Given the description of an element on the screen output the (x, y) to click on. 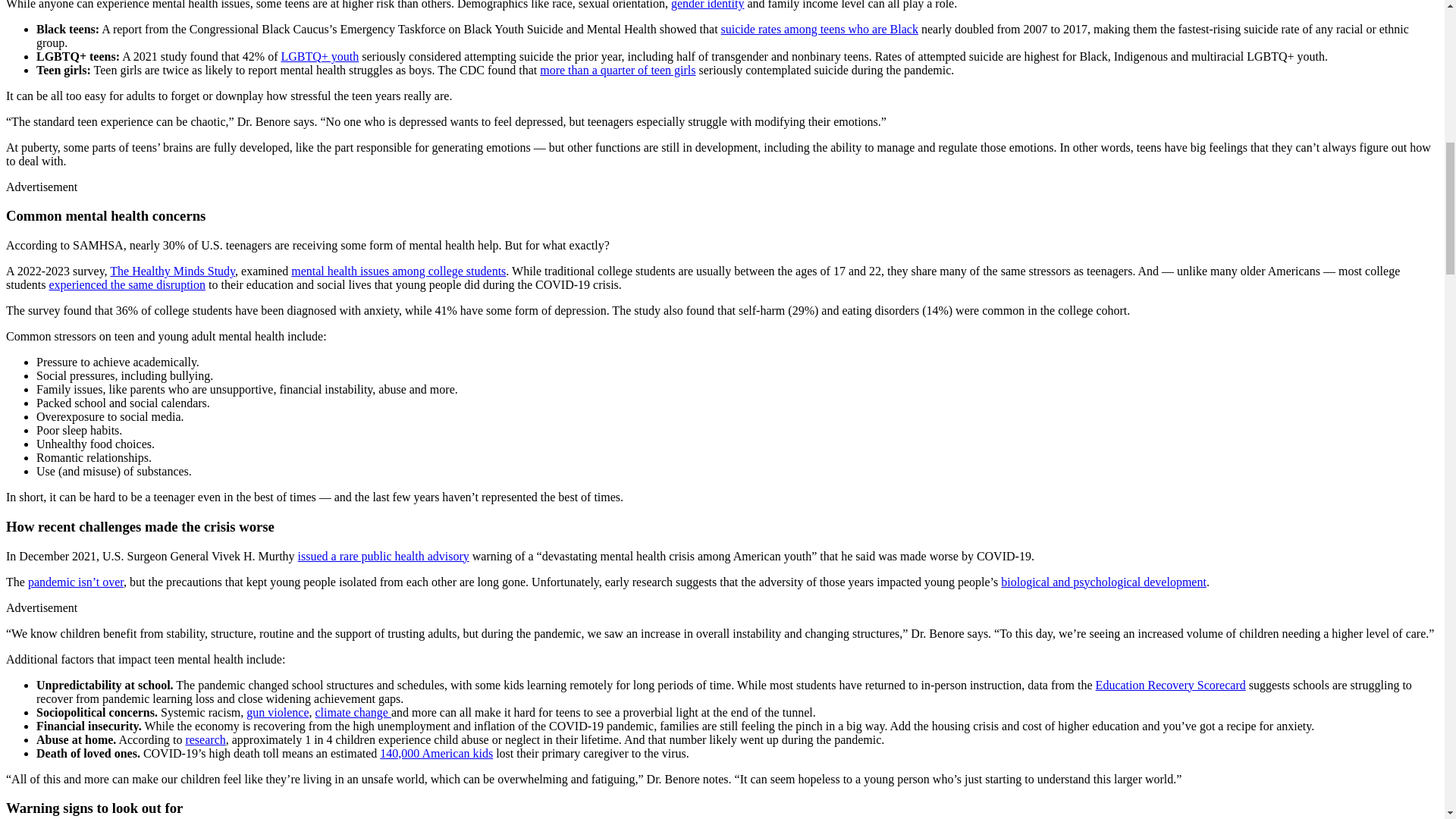
mental health issues among college students (398, 270)
The Healthy Minds Study (172, 270)
suicide rates among teens who are Black (819, 29)
experienced the same disruption (126, 284)
gender identity (707, 4)
more than a quarter of teen girls (617, 69)
issued a rare public health advisory (383, 555)
biological and psychological development (1104, 581)
